Given the description of an element on the screen output the (x, y) to click on. 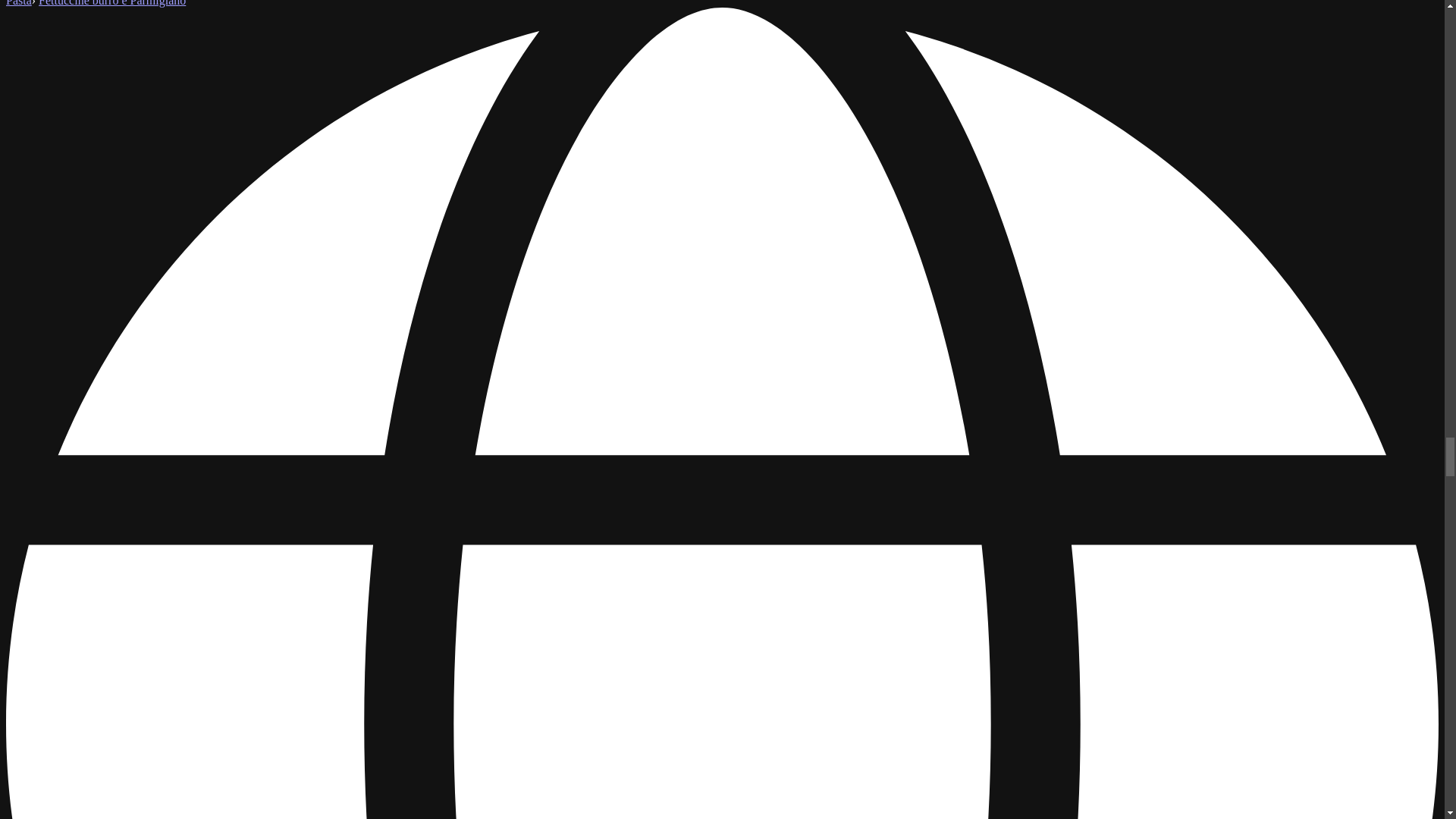
Pasta (18, 3)
Fettuccine burro e Parmigiano (112, 3)
